Given the description of an element on the screen output the (x, y) to click on. 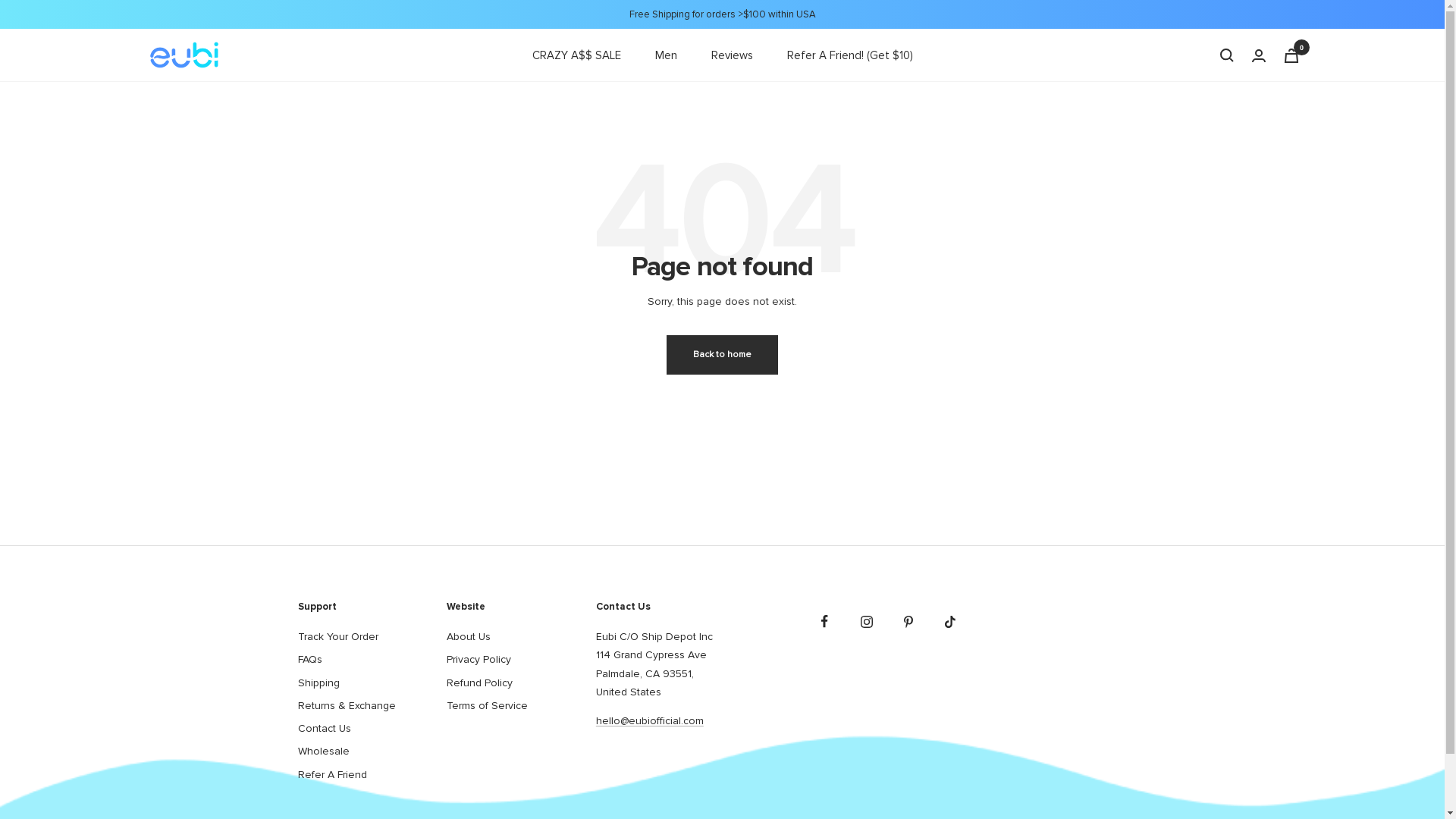
0 Element type: text (1290, 54)
About Us Element type: text (468, 636)
Track Your Order Element type: text (337, 636)
Refund Policy Element type: text (479, 683)
Refer A Friend Element type: text (331, 774)
Privacy Policy Element type: text (478, 659)
Refer A Friend! (Get $10) Element type: text (850, 55)
EUBI US Element type: text (183, 54)
Terms of Service Element type: text (486, 705)
Back to home Element type: text (722, 354)
FAQs Element type: text (309, 659)
hello@eubiofficial.com Element type: text (649, 720)
Contact Us Element type: text (323, 728)
Men Element type: text (666, 55)
CRAZY A$$ SALE Element type: text (576, 55)
Returns & Exchange Element type: text (346, 705)
Wholesale Element type: text (322, 751)
Reviews Element type: text (732, 55)
Shipping Element type: text (317, 683)
